Given the description of an element on the screen output the (x, y) to click on. 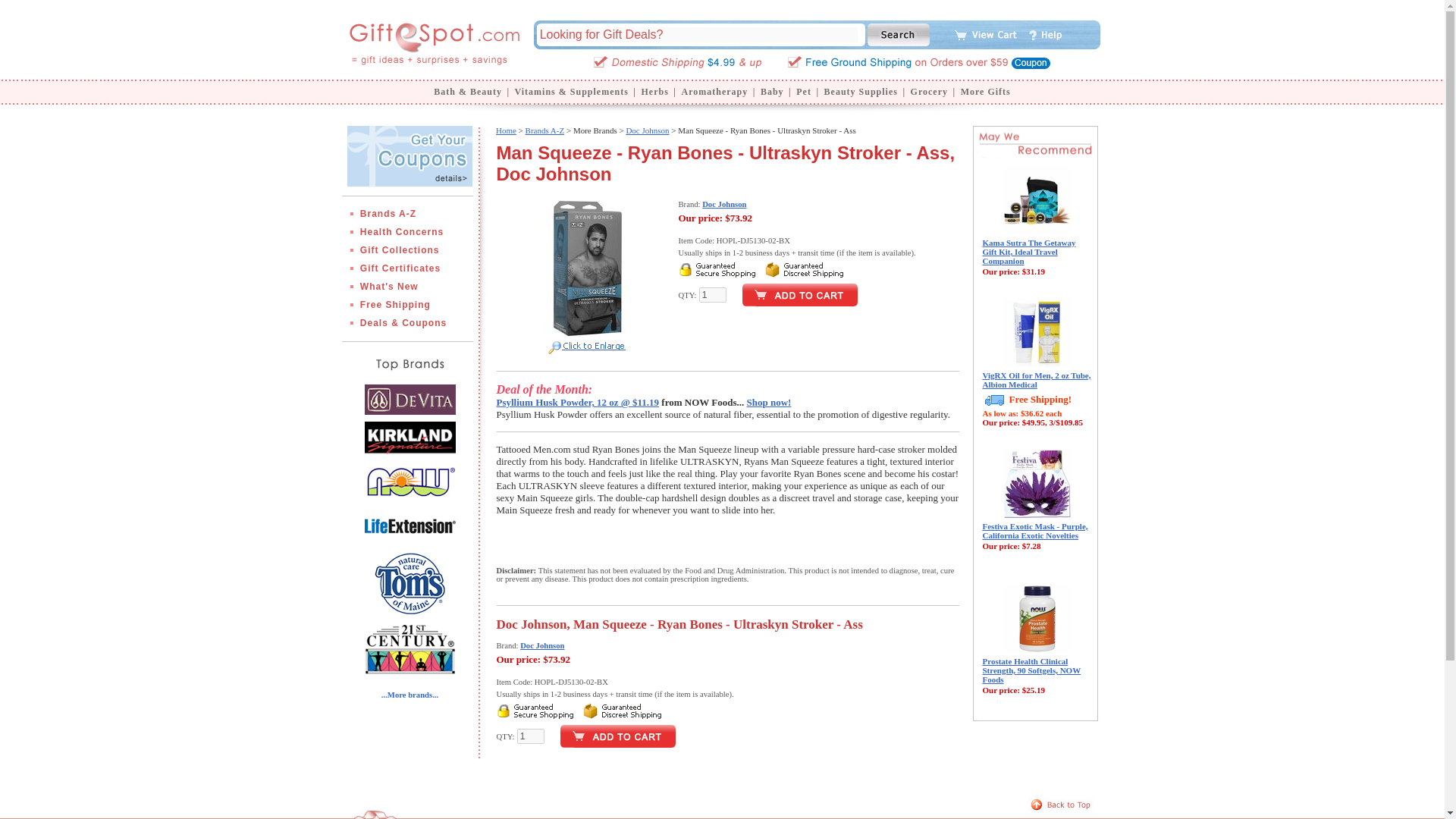
Brands A-Z (544, 130)
Home (506, 130)
1 (530, 735)
Pet (803, 91)
Gift Collections (406, 249)
Baby (772, 91)
What's New (395, 286)
Beauty Supplies (861, 91)
Aromatherapy (714, 91)
Gift Certificates (406, 267)
